Given the description of an element on the screen output the (x, y) to click on. 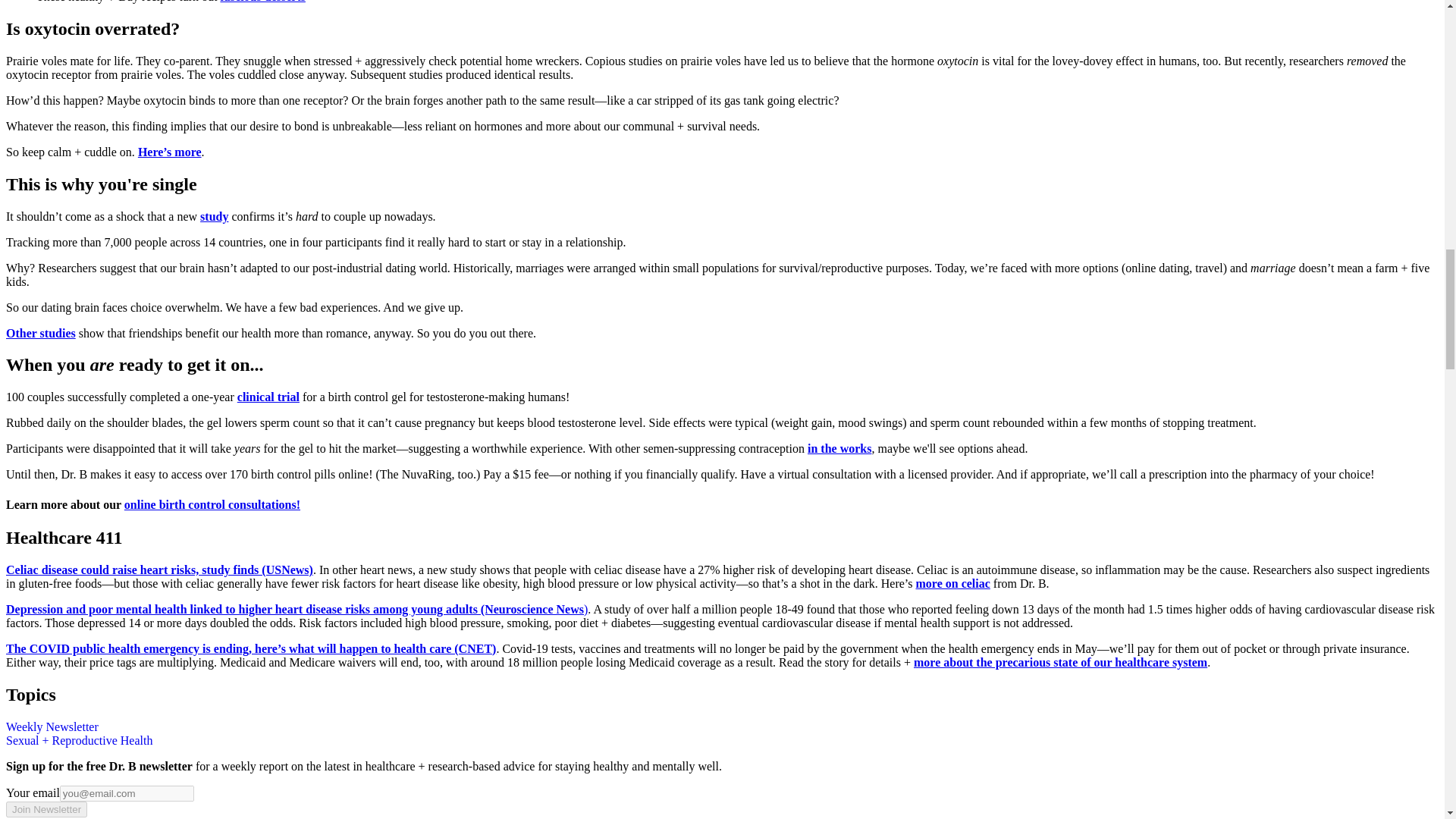
in the works (839, 448)
online birth control consultations! (211, 504)
Other studies (40, 332)
Join Newsletter (46, 809)
study (214, 215)
clinical trial (268, 396)
more on celiac (952, 583)
luscious desserts (261, 1)
more about the precarious state of our healthcare system (1060, 662)
